Given the description of an element on the screen output the (x, y) to click on. 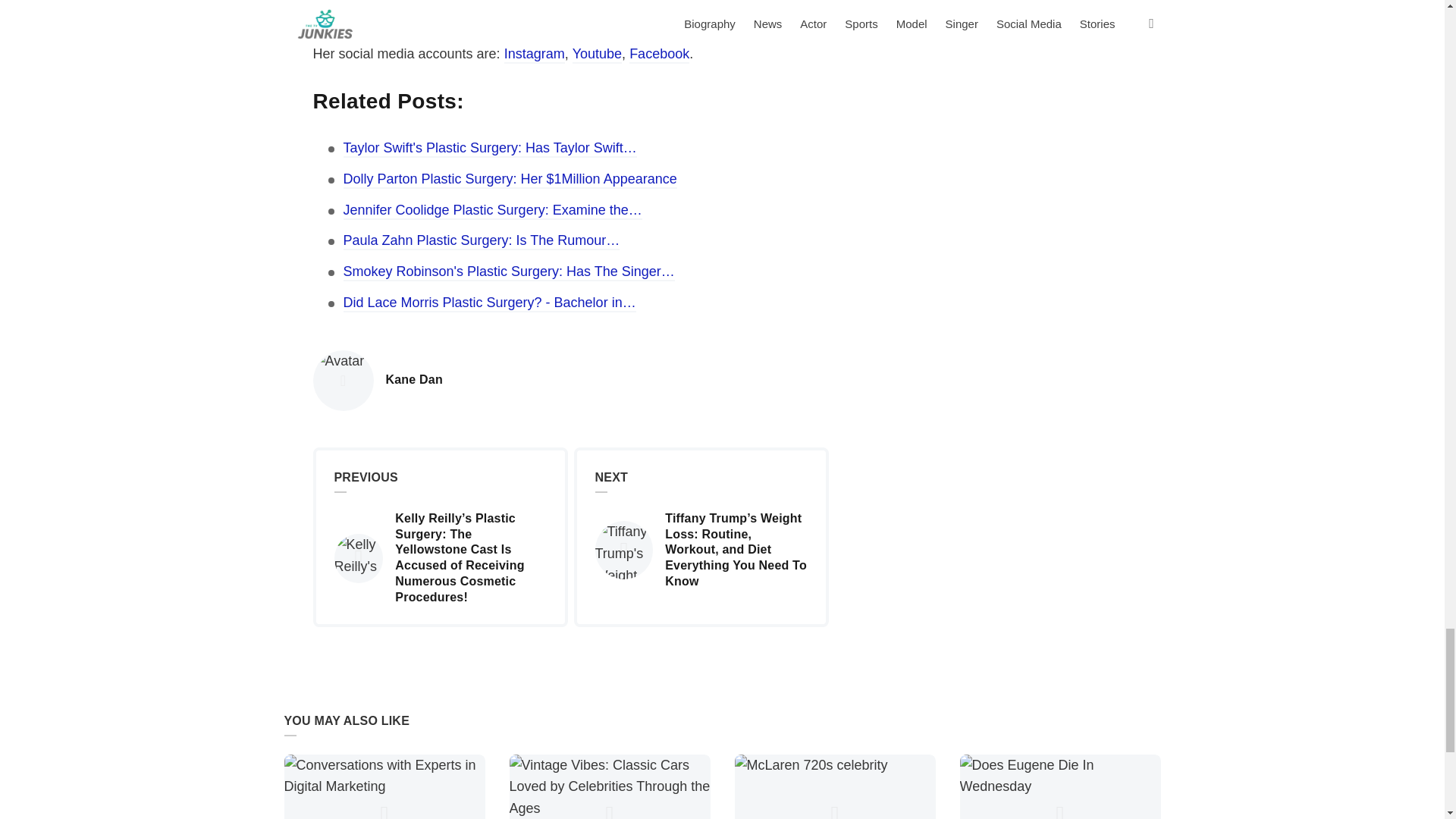
Facebook (658, 54)
Youtube (596, 54)
Instagram (413, 380)
